Given the description of an element on the screen output the (x, y) to click on. 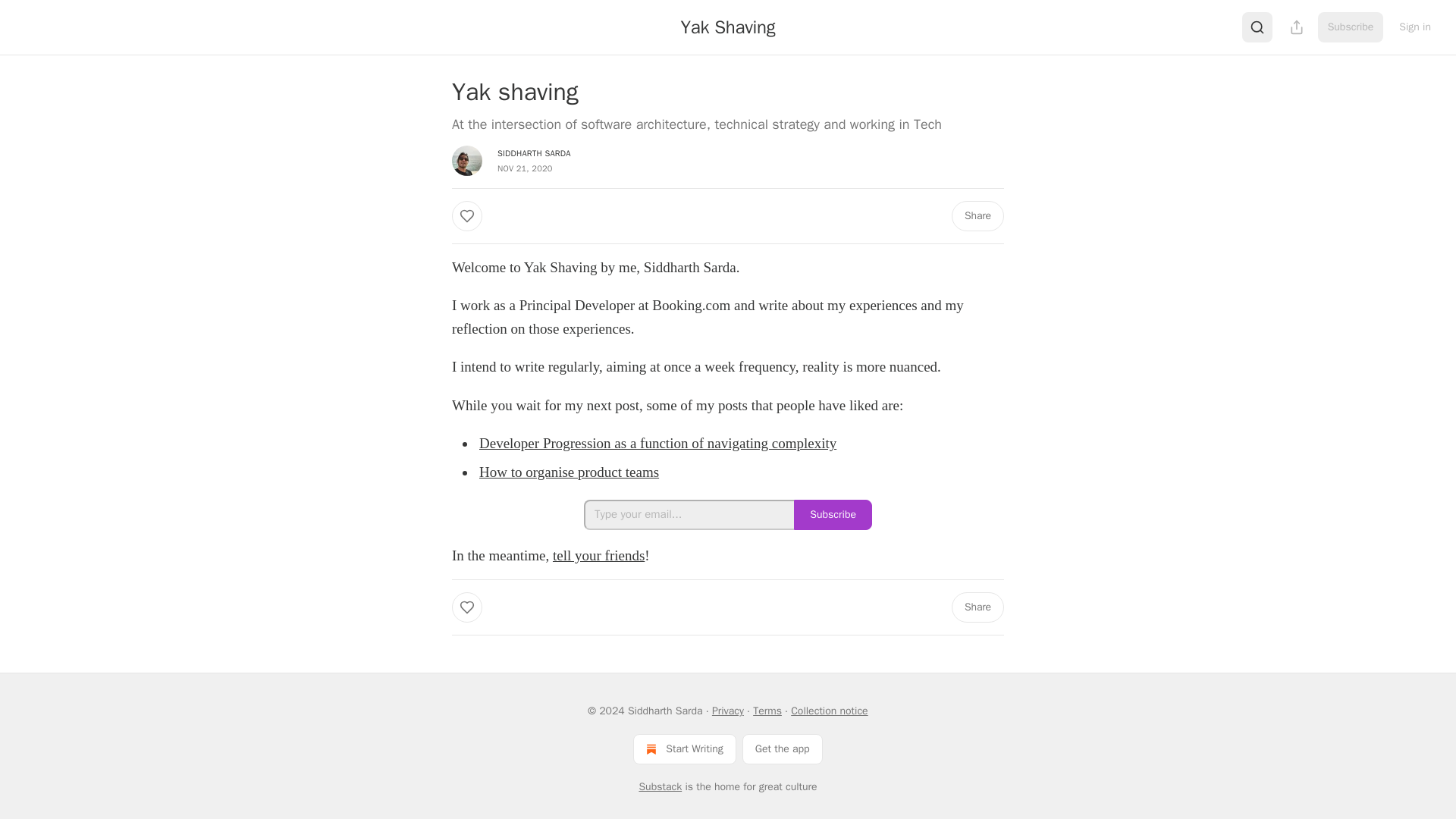
Developer Progression as a function of navigating complexity (657, 442)
Get the app (782, 748)
SIDDHARTH SARDA (533, 153)
Privacy (727, 710)
Subscribe (832, 514)
How to organise product teams (569, 471)
Collection notice (828, 710)
Subscribe (1350, 27)
Substack (660, 786)
Start Writing (684, 748)
